Given the description of an element on the screen output the (x, y) to click on. 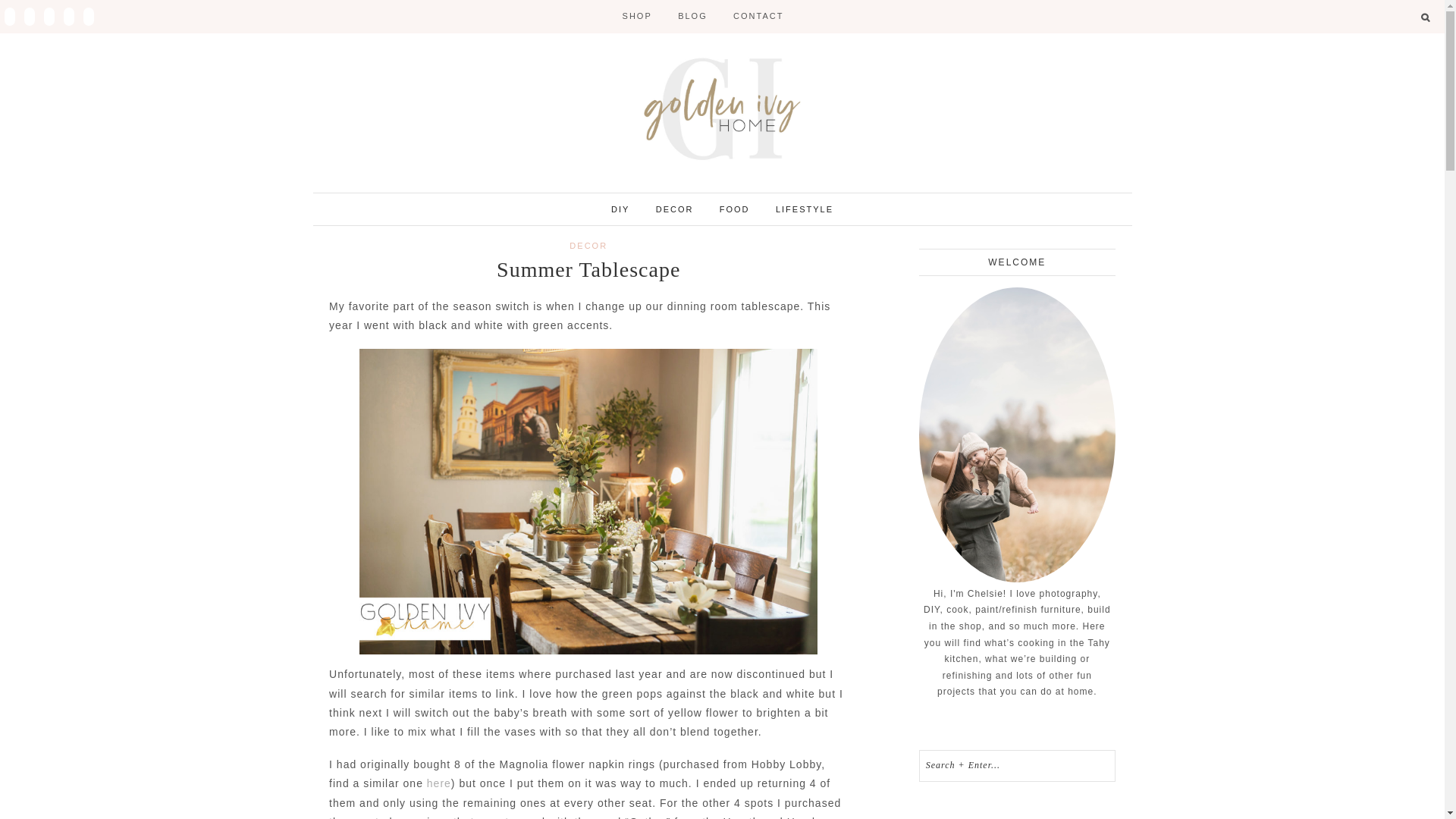
Golden Ivy Home site (722, 109)
SHOP (637, 15)
DIY (619, 209)
FOOD (734, 209)
here (438, 783)
BLOG (692, 15)
DECOR (674, 209)
DECOR (588, 245)
CONTACT (758, 15)
LIFESTYLE (804, 209)
